Given the description of an element on the screen output the (x, y) to click on. 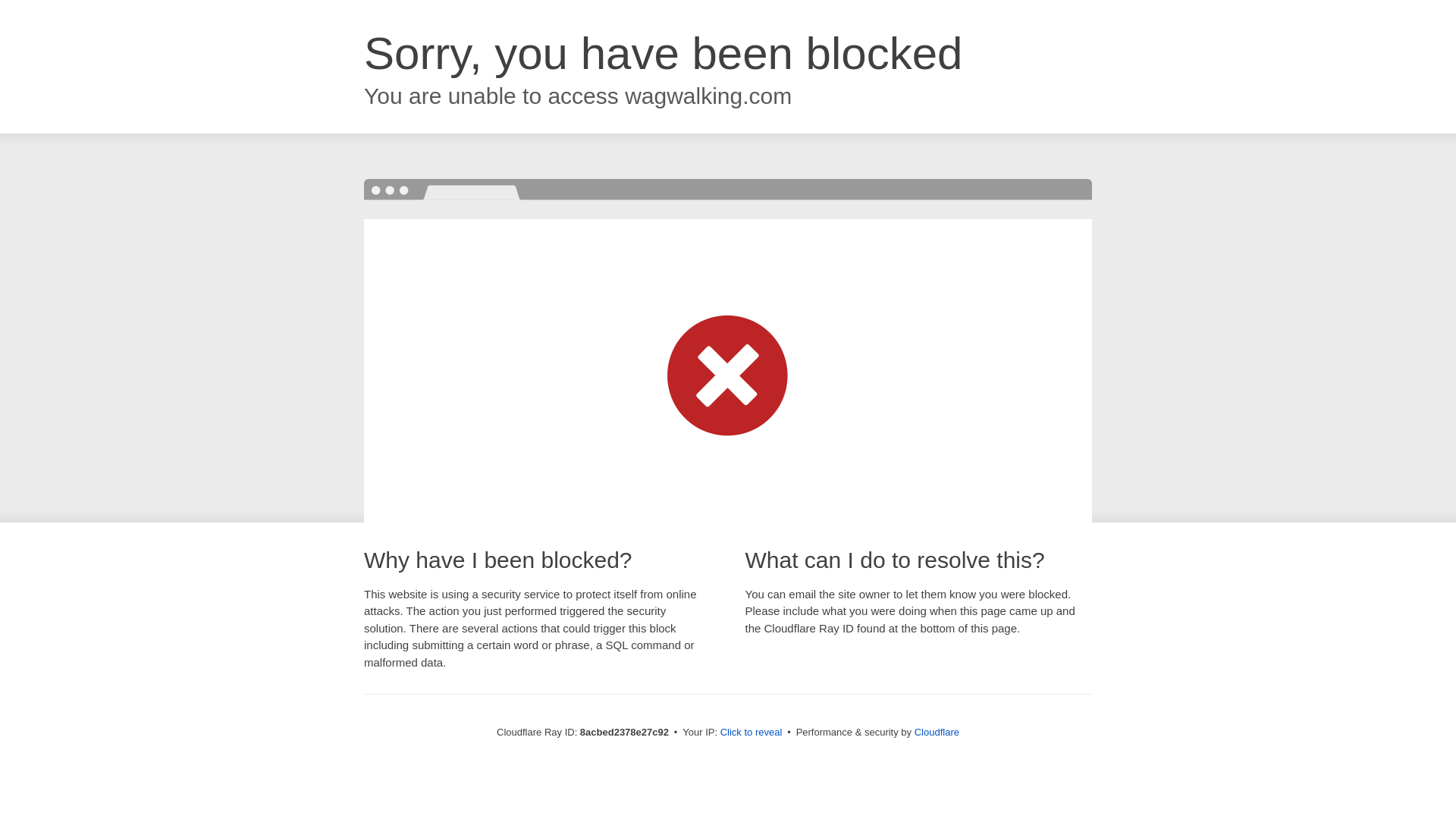
Click to reveal (751, 732)
Cloudflare (936, 731)
